Given the description of an element on the screen output the (x, y) to click on. 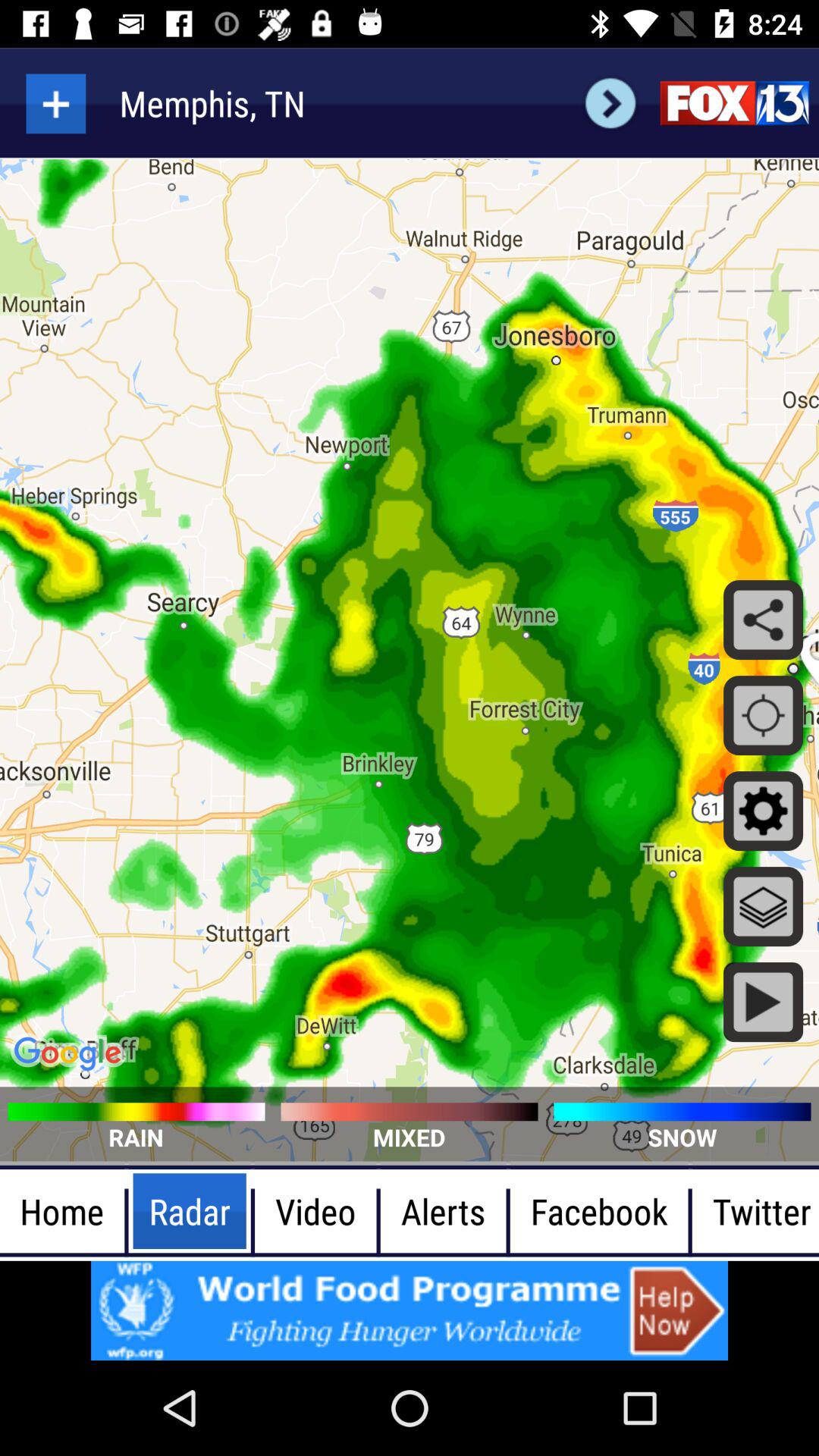
expand (55, 103)
